Given the description of an element on the screen output the (x, y) to click on. 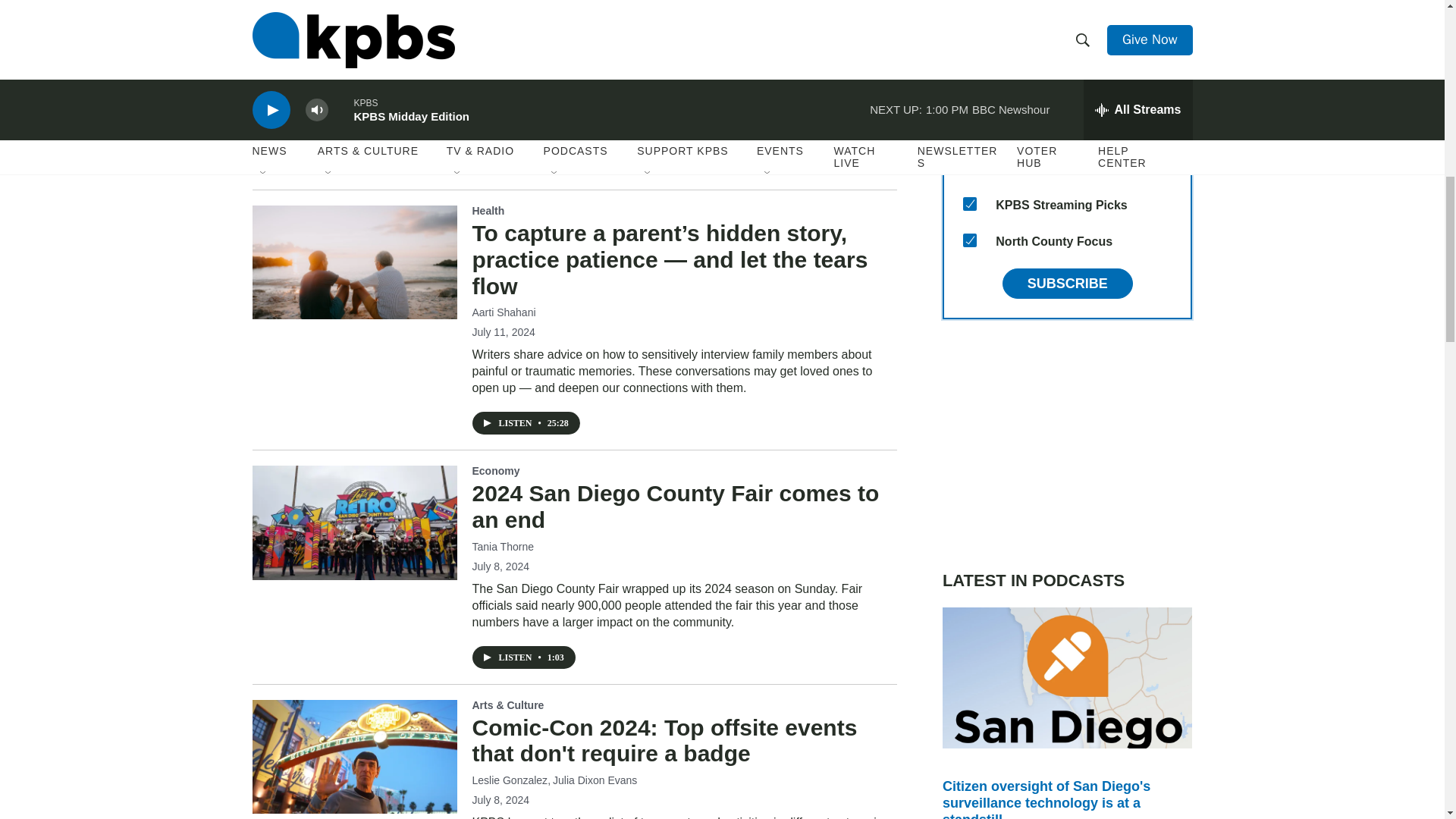
5 (969, 58)
4 (969, 21)
8 (969, 203)
1 (969, 167)
2 (969, 131)
6 (969, 94)
15 (969, 240)
